Given the description of an element on the screen output the (x, y) to click on. 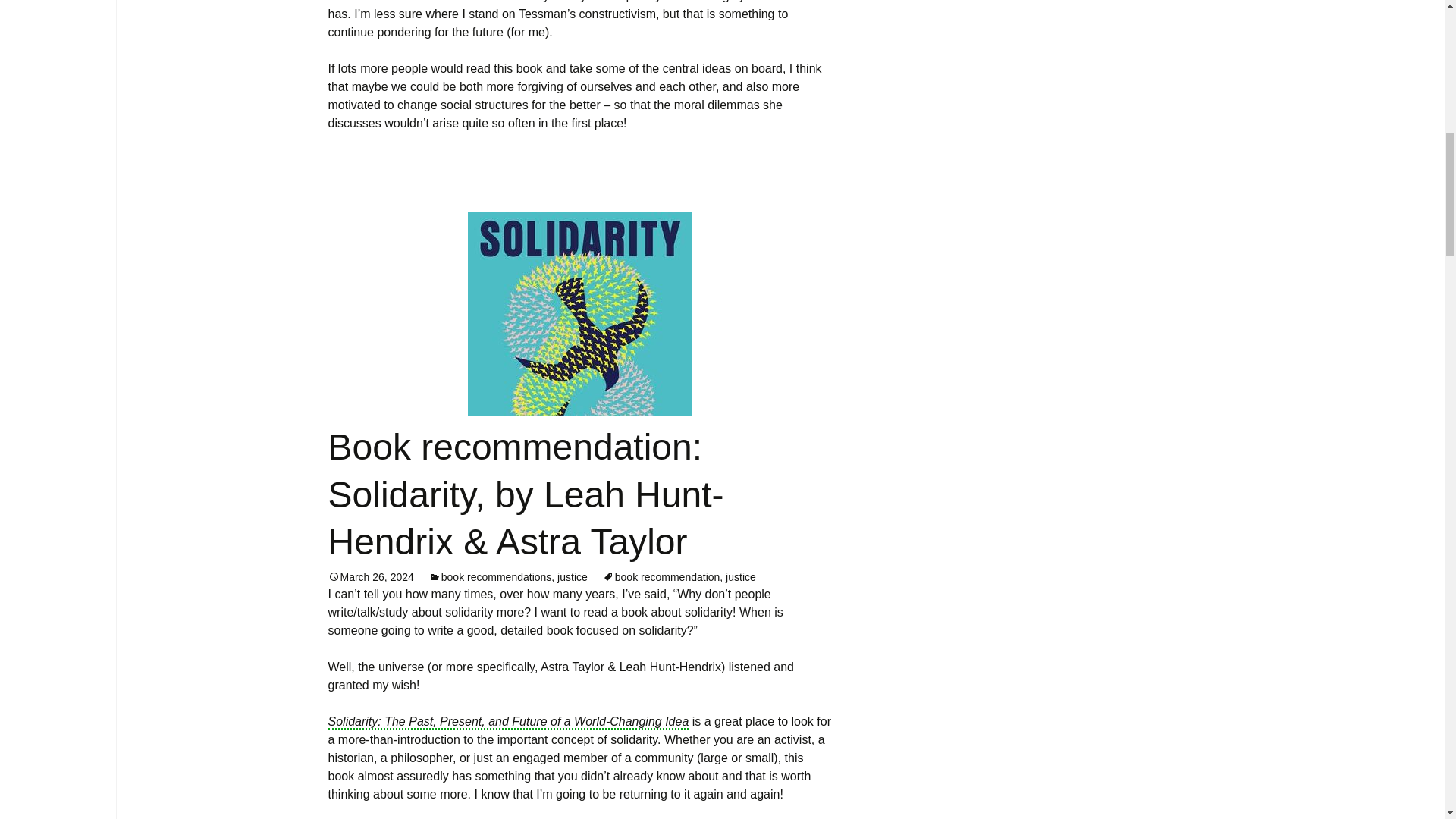
book recommendation (661, 576)
book recommendations (490, 576)
March 26, 2024 (370, 576)
justice (740, 576)
justice (572, 576)
